Given the description of an element on the screen output the (x, y) to click on. 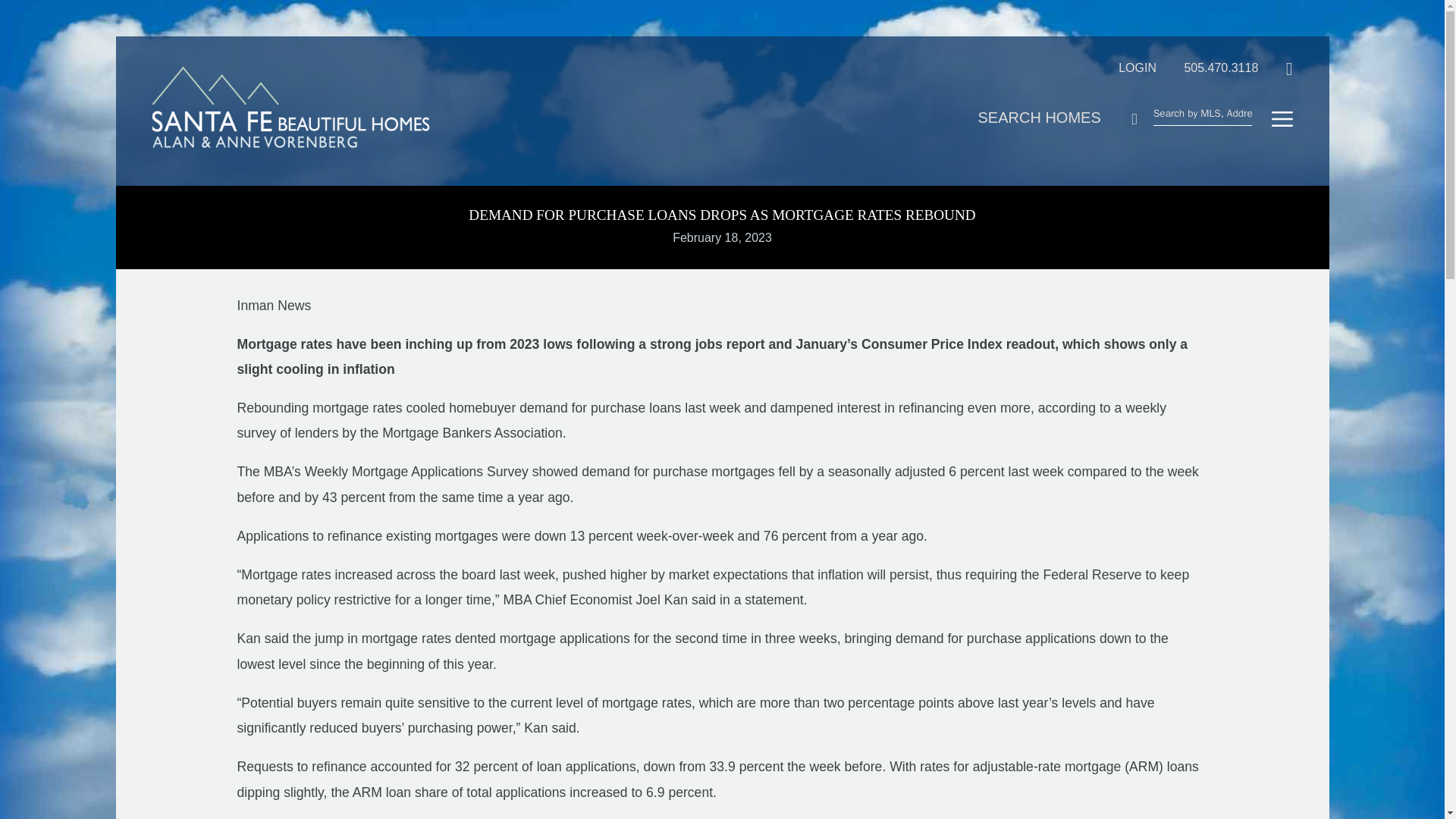
LOGIN (1125, 67)
SEARCH HOMES (1047, 117)
505.470.3118 (1207, 67)
